Given the description of an element on the screen output the (x, y) to click on. 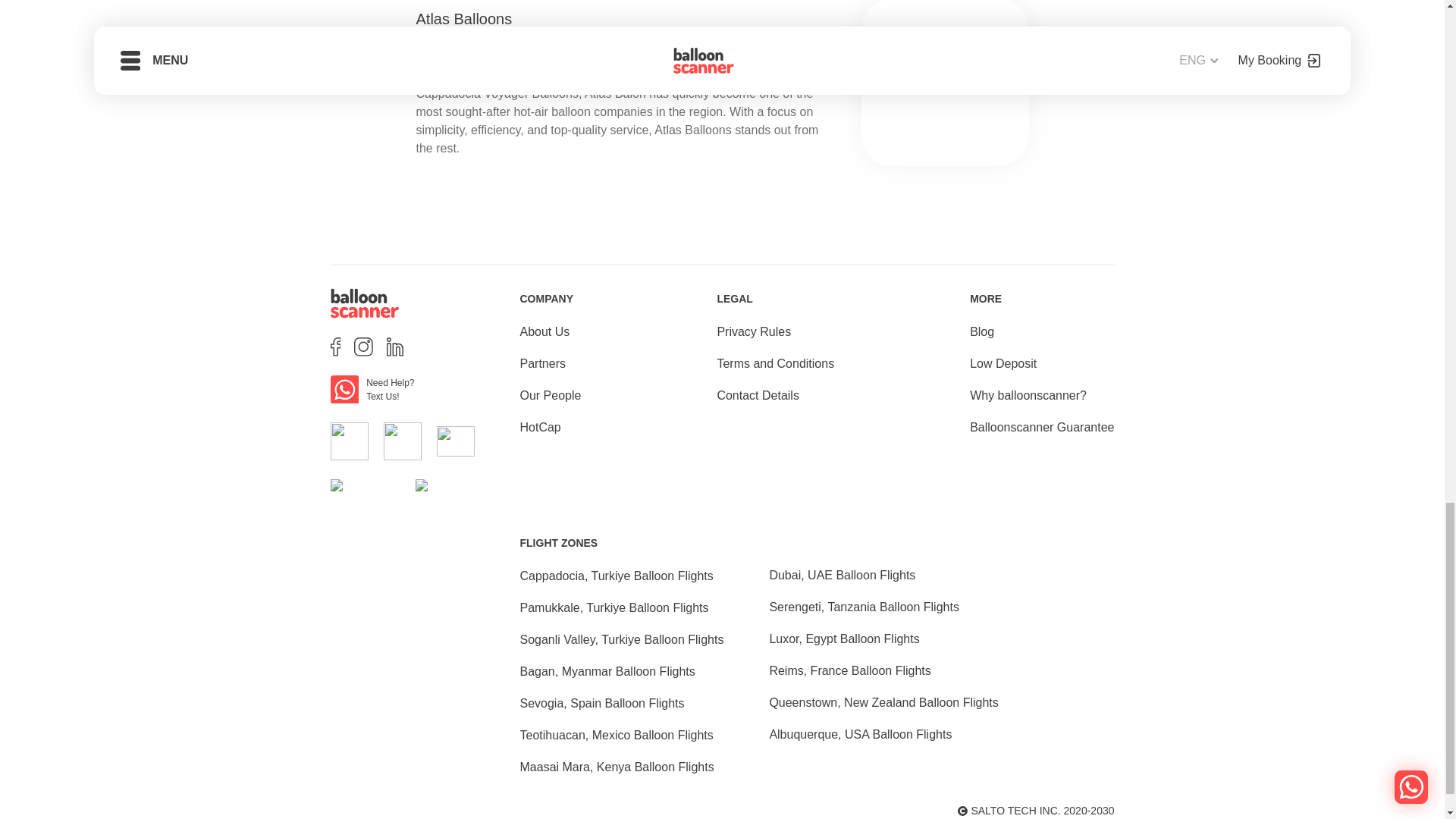
Terms and Conditions (775, 363)
About Us (544, 331)
Low Deposit (1002, 363)
Blog (981, 331)
Privacy Rules (753, 331)
Our People (549, 395)
Partners (542, 363)
Balloonscanner Guarantee (1041, 427)
HotCap (539, 427)
Why balloonscanner? (1027, 395)
Contact Details (757, 395)
